Given the description of an element on the screen output the (x, y) to click on. 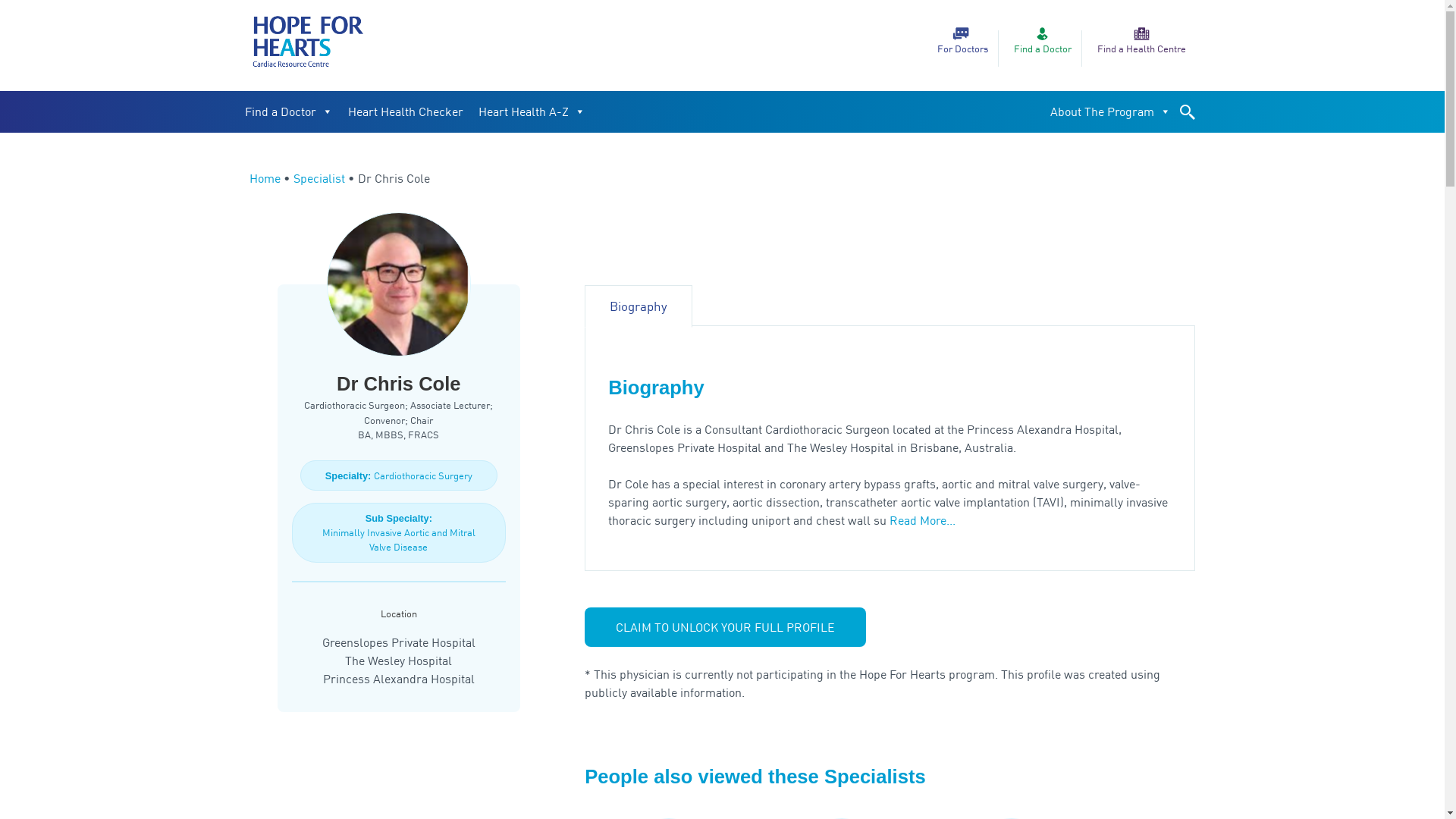
CLAIM TO UNLOCK YOUR FULL PROFILE Element type: text (725, 626)
Heart Health Checker Element type: text (404, 111)
Find a Health Centre Element type: text (1141, 39)
For Doctors Element type: text (962, 39)
Find a Doctor Element type: text (287, 111)
About The Program Element type: text (1110, 111)
Specialist Element type: text (318, 177)
Home Element type: text (263, 177)
Find a Doctor Element type: text (1042, 39)
Read More... Element type: text (922, 519)
Biography Element type: text (638, 306)
Heart Health A-Z Element type: text (531, 111)
